Given the description of an element on the screen output the (x, y) to click on. 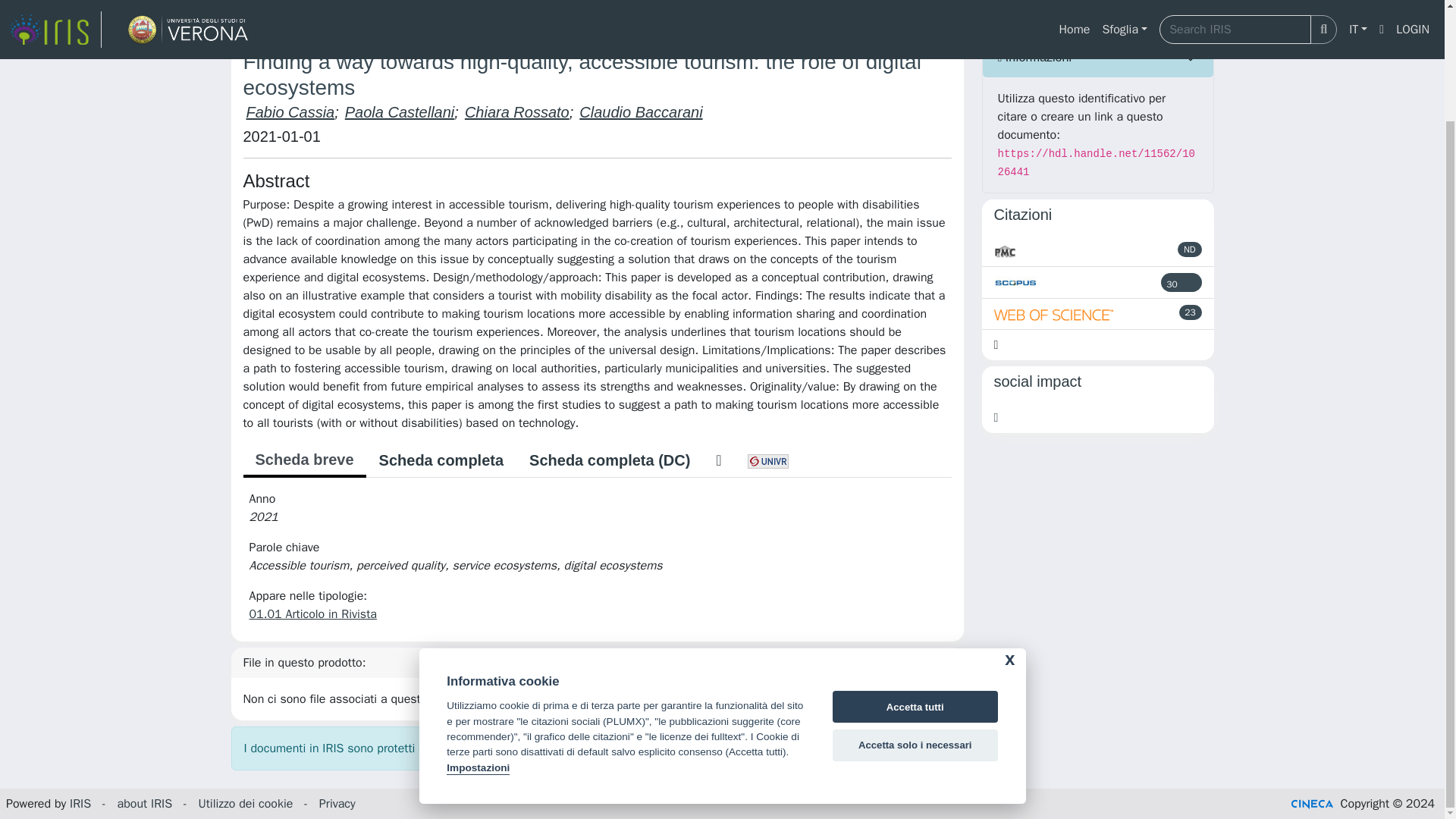
 Informazioni (1097, 56)
SIARI VERONA (308, 15)
Scheda completa (441, 459)
01.01 Articolo in Rivista (567, 15)
Chiara Rossato (516, 112)
Paola Castellani (399, 112)
01.01 Articolo in Rivista (311, 613)
IRIS (240, 15)
Fabio Cassia (290, 112)
01 Contributo in rivista (425, 15)
